Given the description of an element on the screen output the (x, y) to click on. 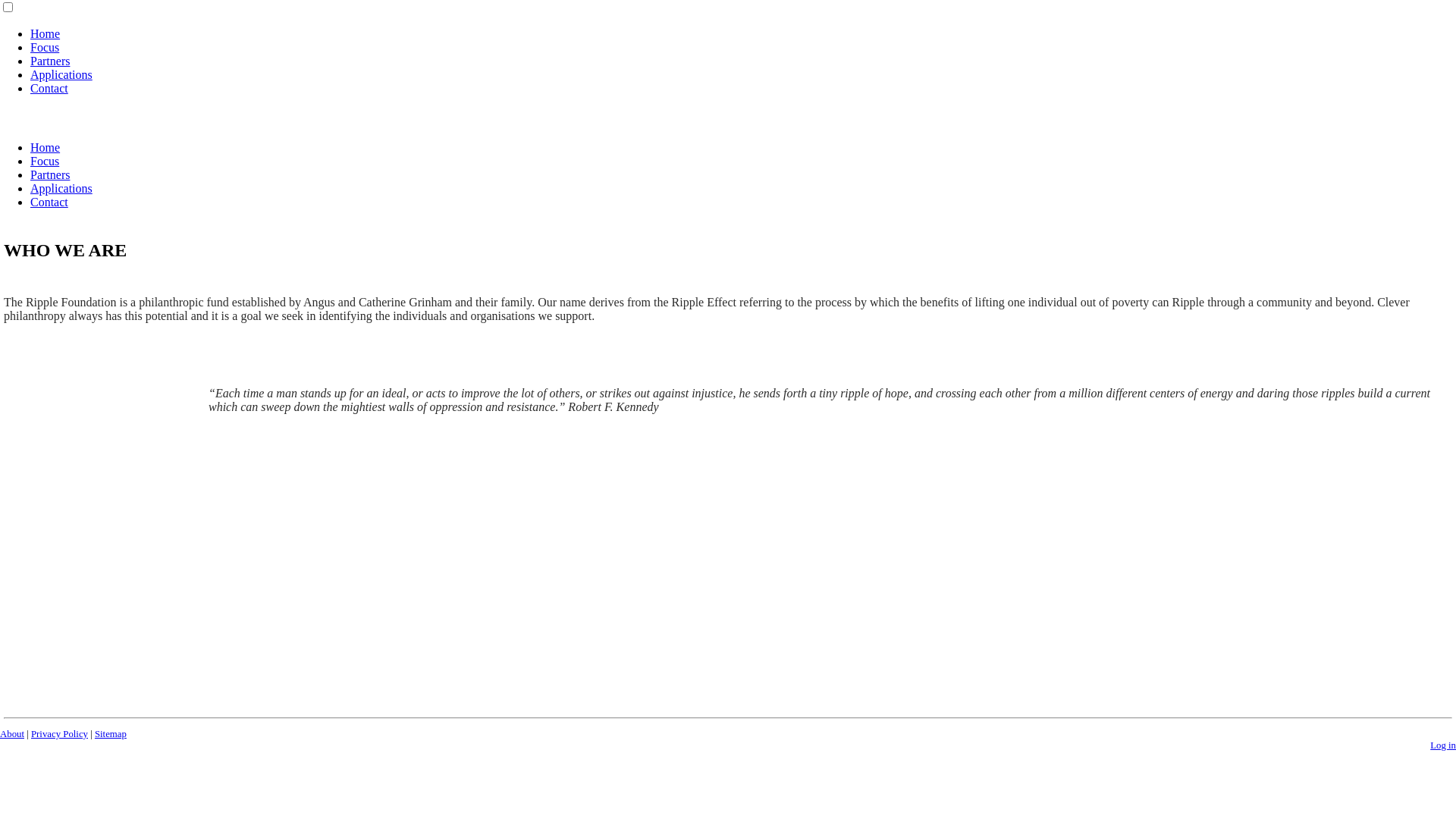
Sitemap Element type: text (110, 733)
Privacy Policy Element type: text (59, 733)
Focus Element type: text (44, 160)
Partners Element type: text (49, 60)
Applications Element type: text (61, 188)
Focus Element type: text (44, 46)
Contact Element type: text (49, 87)
Partners Element type: text (49, 174)
About Element type: text (12, 733)
Applications Element type: text (61, 74)
Home Element type: text (44, 147)
Home Element type: text (44, 33)
Contact Element type: text (49, 201)
